Given the description of an element on the screen output the (x, y) to click on. 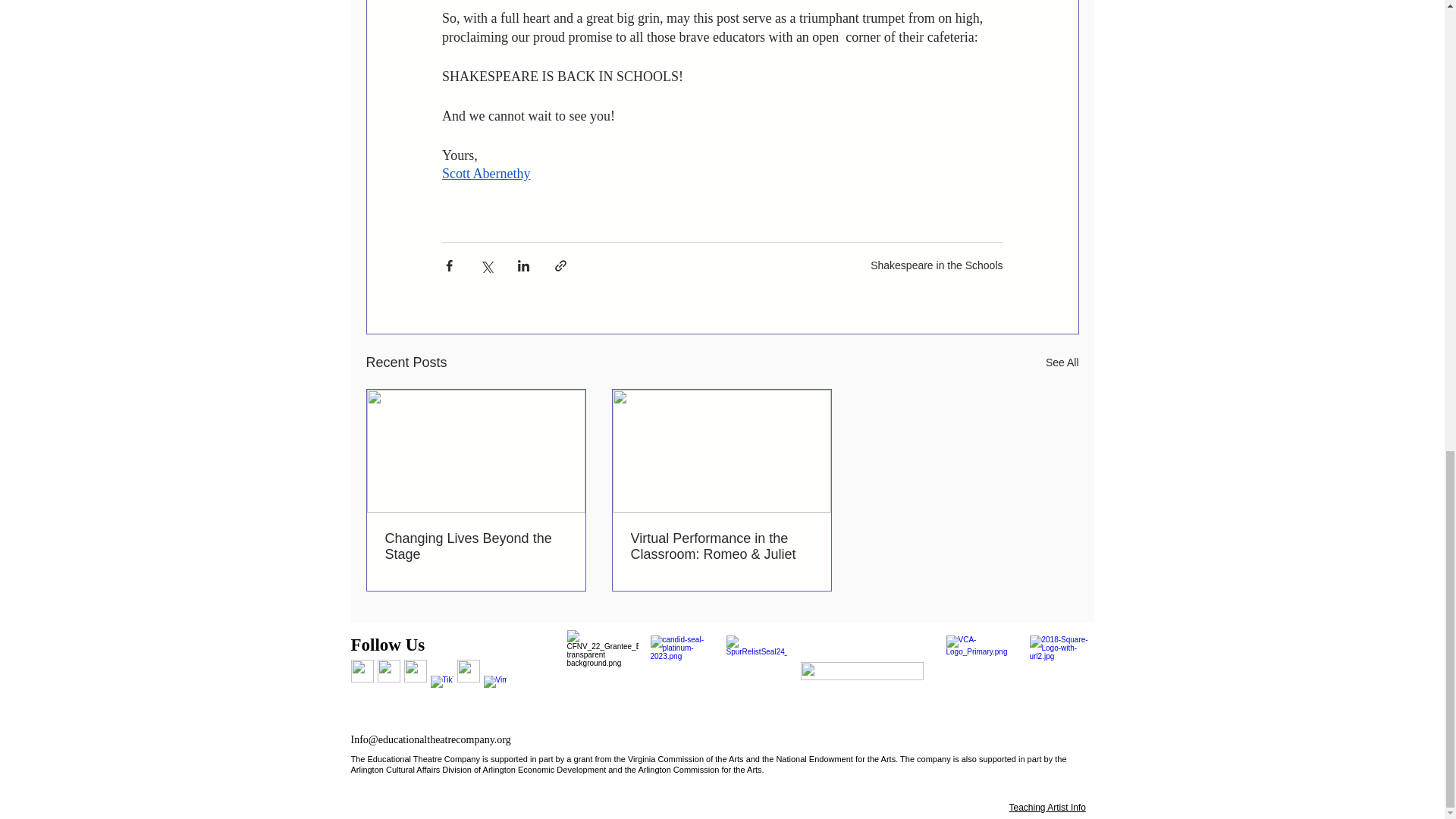
Scott Abernethy (485, 173)
Shakespeare in the Schools (936, 265)
gximage2.png (680, 665)
